Given the description of an element on the screen output the (x, y) to click on. 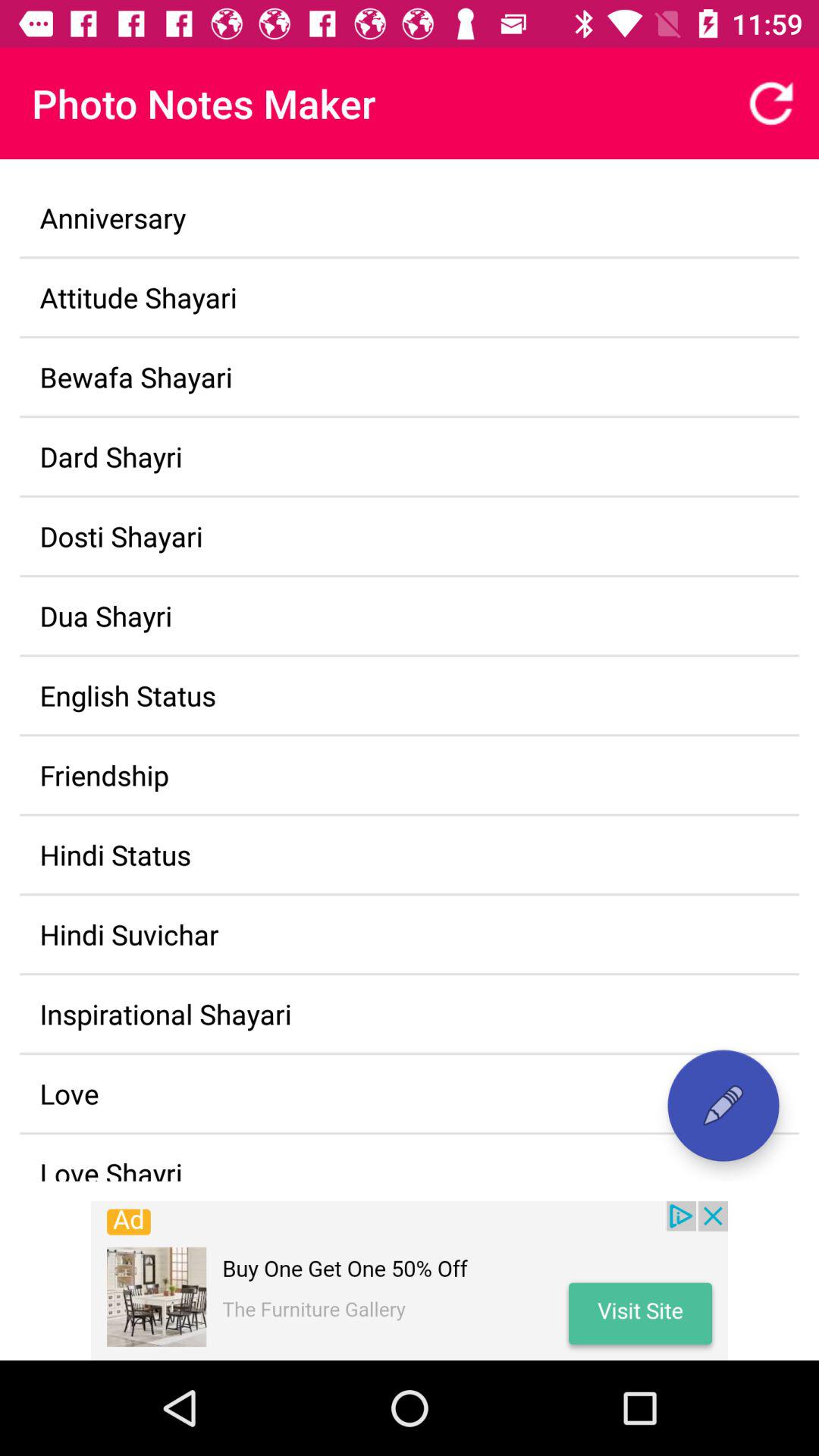
refresh (771, 103)
